Given the description of an element on the screen output the (x, y) to click on. 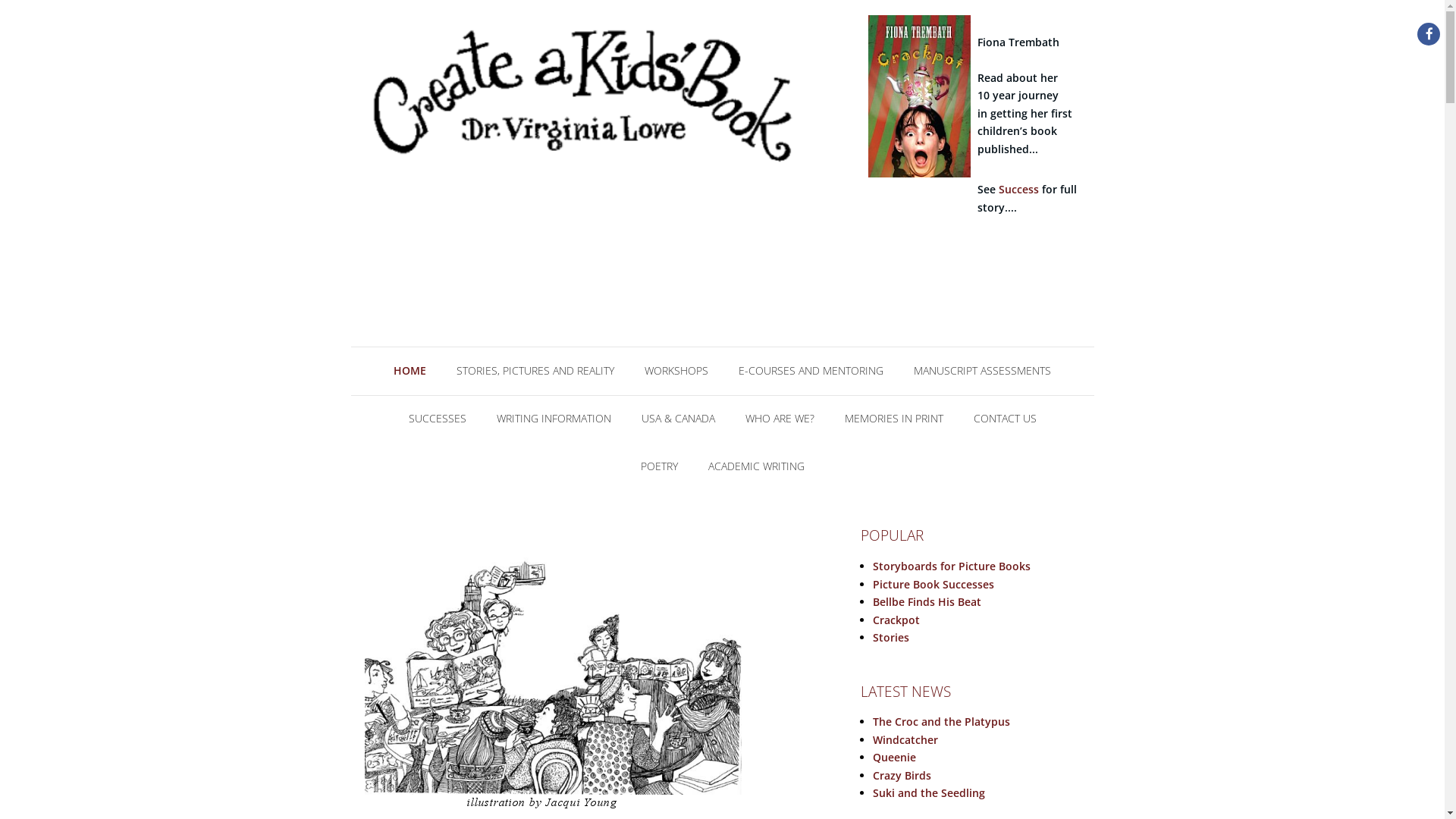
MEMORIES IN PRINT Element type: text (893, 416)
Success Element type: text (1018, 189)
Windcatcher Element type: text (905, 739)
Crazy Birds Element type: text (901, 775)
Queenie Element type: text (894, 756)
WRITING INFORMATION Element type: text (552, 416)
WORKSHOPS Element type: text (676, 368)
WHO ARE WE? Element type: text (778, 416)
Storyboards for Picture Books Element type: text (951, 565)
Picture Book Successes Element type: text (933, 584)
Crackpot Element type: hover (919, 107)
MANUSCRIPT ASSESSMENTS Element type: text (982, 368)
The Croc and the Platypus Element type: text (941, 721)
HOME Element type: text (409, 368)
Bellbe Finds His Beat Element type: text (926, 601)
CONTACT US Element type: text (1004, 416)
ACADEMIC WRITING Element type: text (756, 464)
POETRY Element type: text (658, 464)
STORIES, PICTURES AND REALITY Element type: text (535, 368)
SUCCESSES Element type: text (436, 416)
Crackpot Element type: text (895, 619)
E-COURSES AND MENTORING Element type: text (810, 368)
Stories Element type: text (890, 637)
USA & CANADA Element type: text (678, 416)
Suki and the Seedling Element type: text (928, 792)
